Given the description of an element on the screen output the (x, y) to click on. 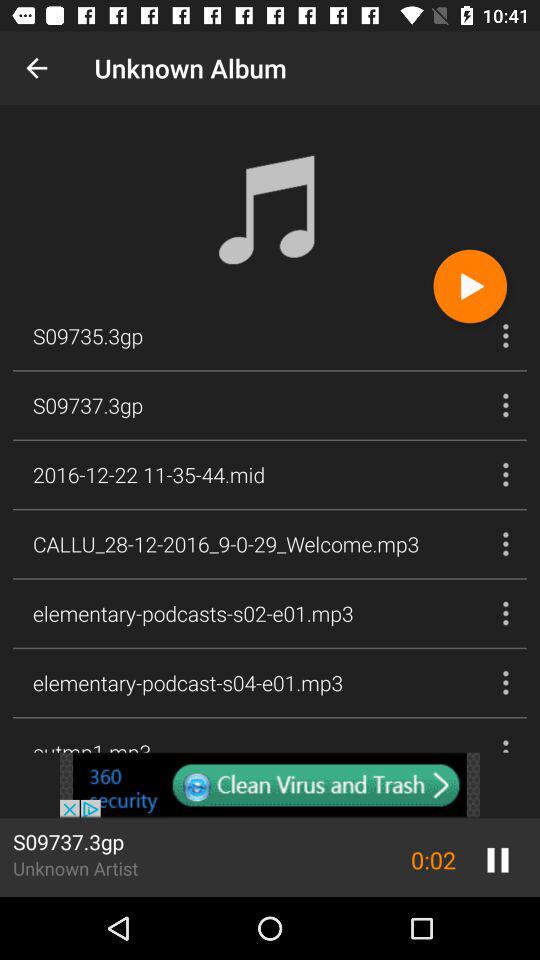
play option (470, 286)
